Given the description of an element on the screen output the (x, y) to click on. 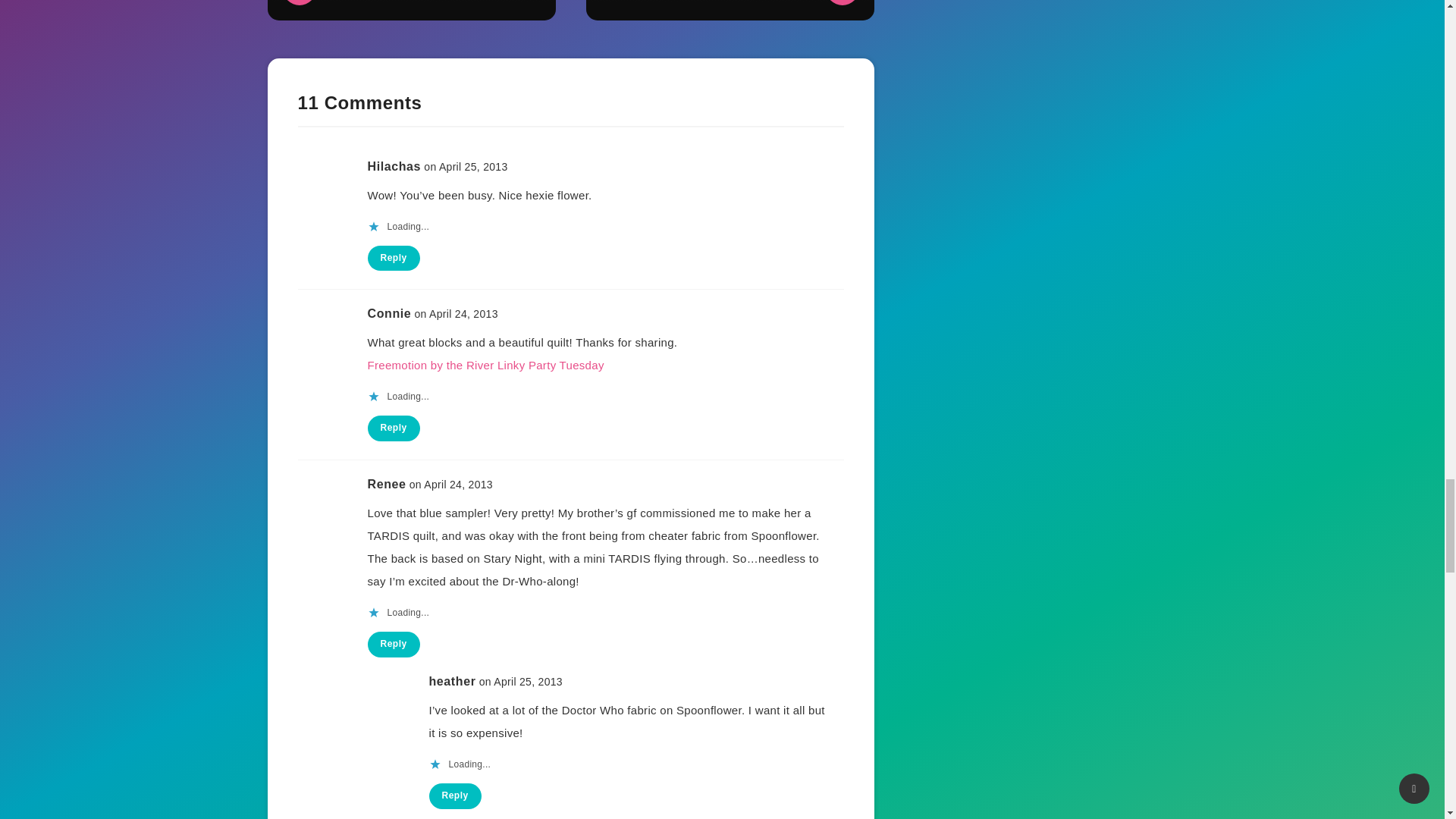
Reply (392, 644)
Reply (392, 428)
Freemotion by the River Linky Party Tuesday (485, 364)
Reply (392, 258)
Connie (388, 313)
Renee (386, 483)
Hilachas (393, 165)
